Given the description of an element on the screen output the (x, y) to click on. 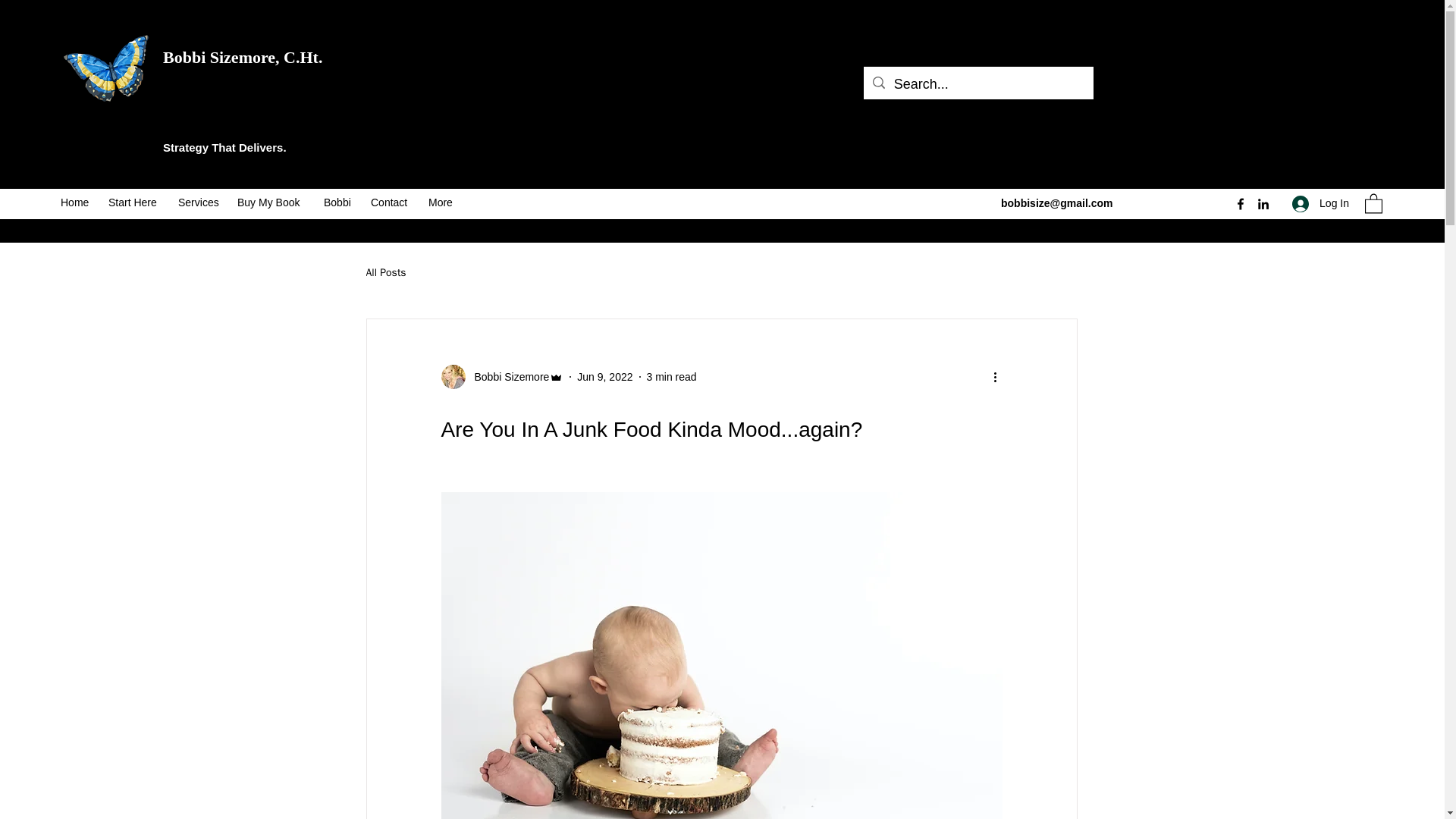
Start Here (135, 201)
3 min read (670, 377)
Bobbi Sizemore (502, 376)
Bobbi Sizemore, C.Ht. (242, 56)
Services (200, 201)
Bobbi Sizemore (507, 376)
All Posts (385, 273)
Jun 9, 2022 (603, 377)
Buy My Book (272, 201)
Log In (1320, 203)
